Given the description of an element on the screen output the (x, y) to click on. 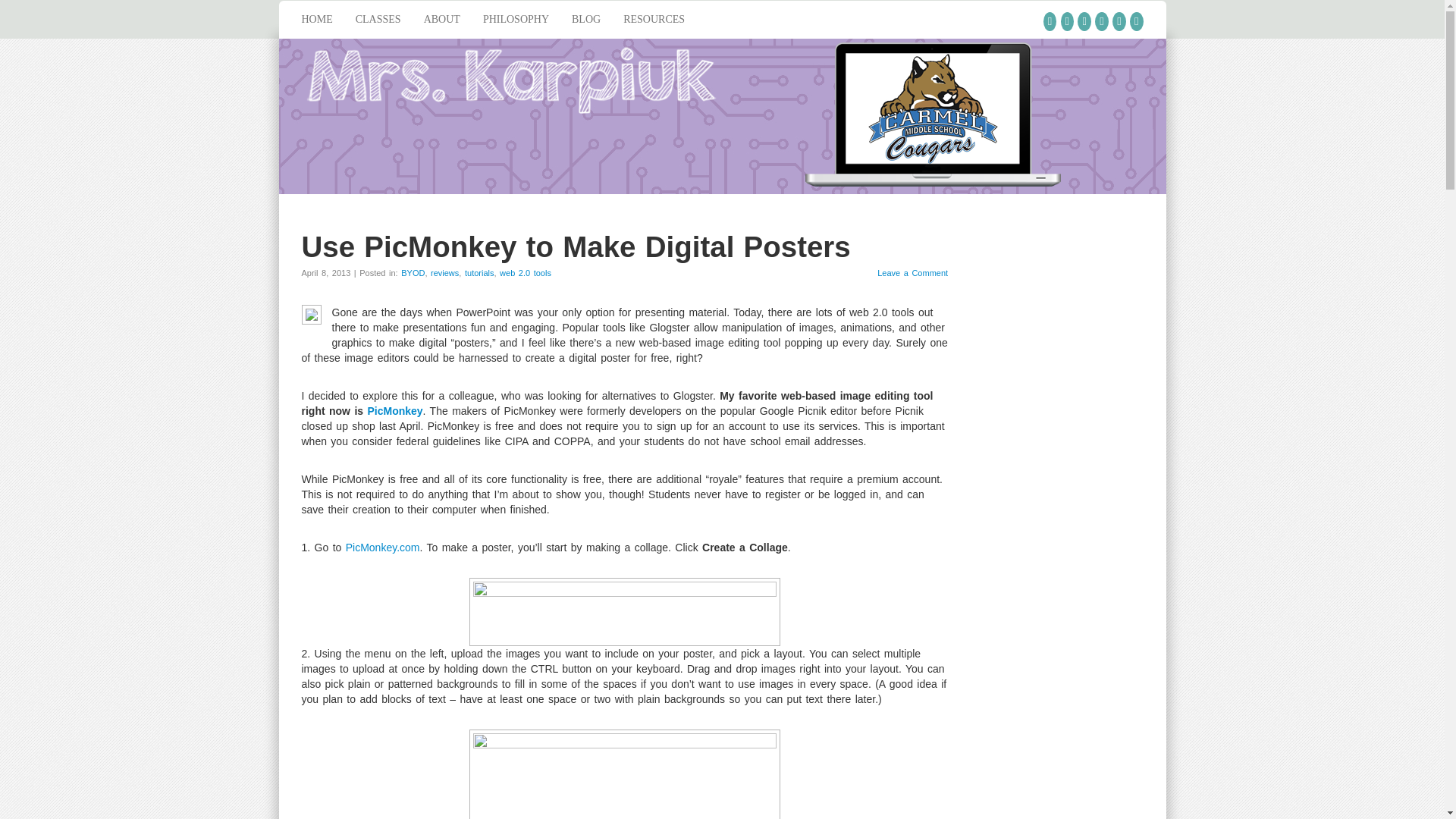
tutorials (479, 272)
Leave a Comment (912, 272)
ABOUT (441, 19)
PicMonkey.com (383, 547)
BLOG (585, 19)
CLASSES (377, 19)
PHILOSOPHY (515, 19)
BYOD (413, 272)
HOME (316, 19)
PicMonkey (394, 410)
